Given the description of an element on the screen output the (x, y) to click on. 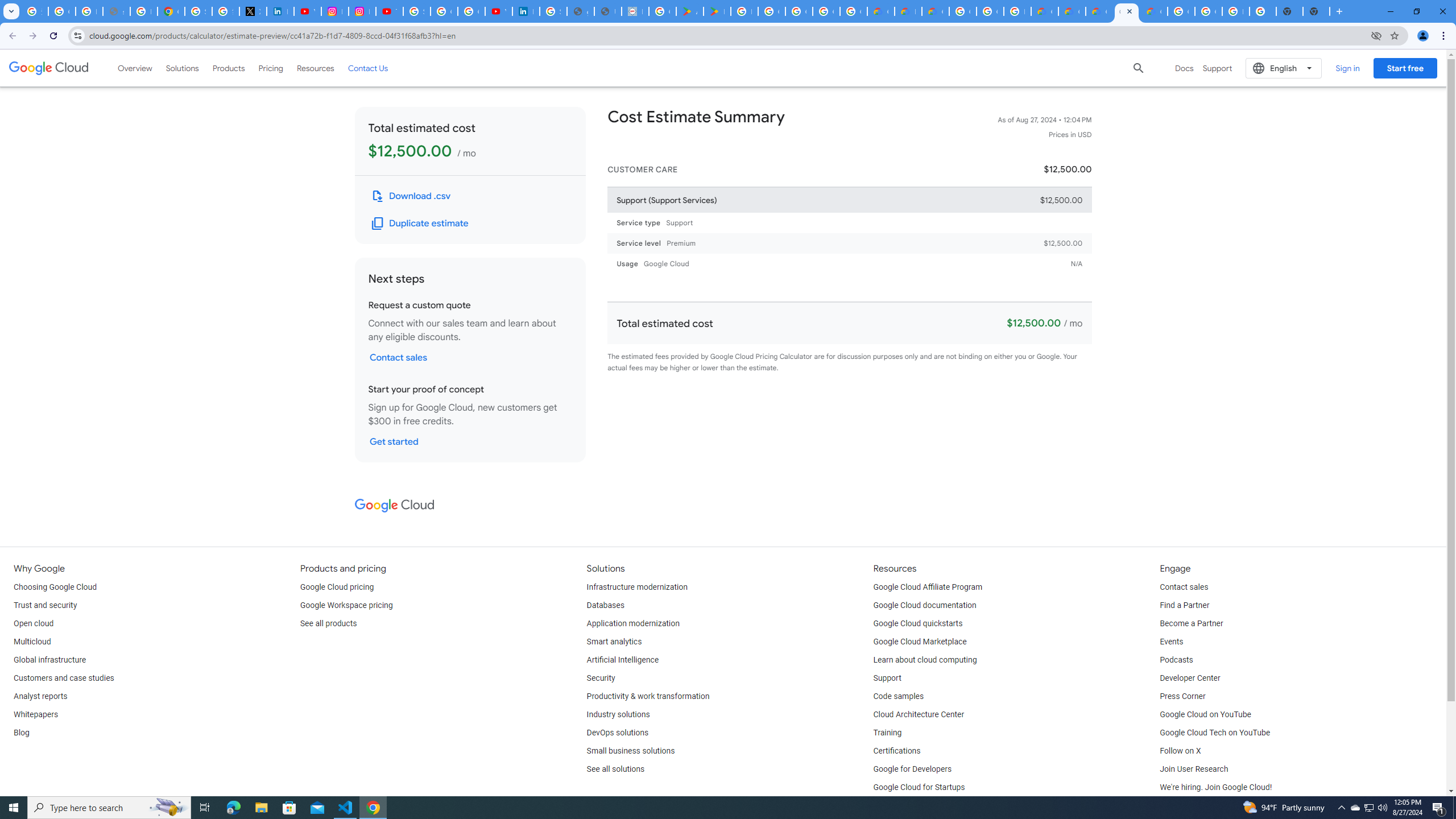
Google Cloud on YouTube (1204, 714)
Multicloud (31, 642)
Events (1170, 642)
Google Workspace pricing (346, 605)
Contact Us (368, 67)
Choosing Google Cloud (55, 587)
Security (600, 678)
See all products (327, 624)
Become a Partner (1190, 624)
